Given the description of an element on the screen output the (x, y) to click on. 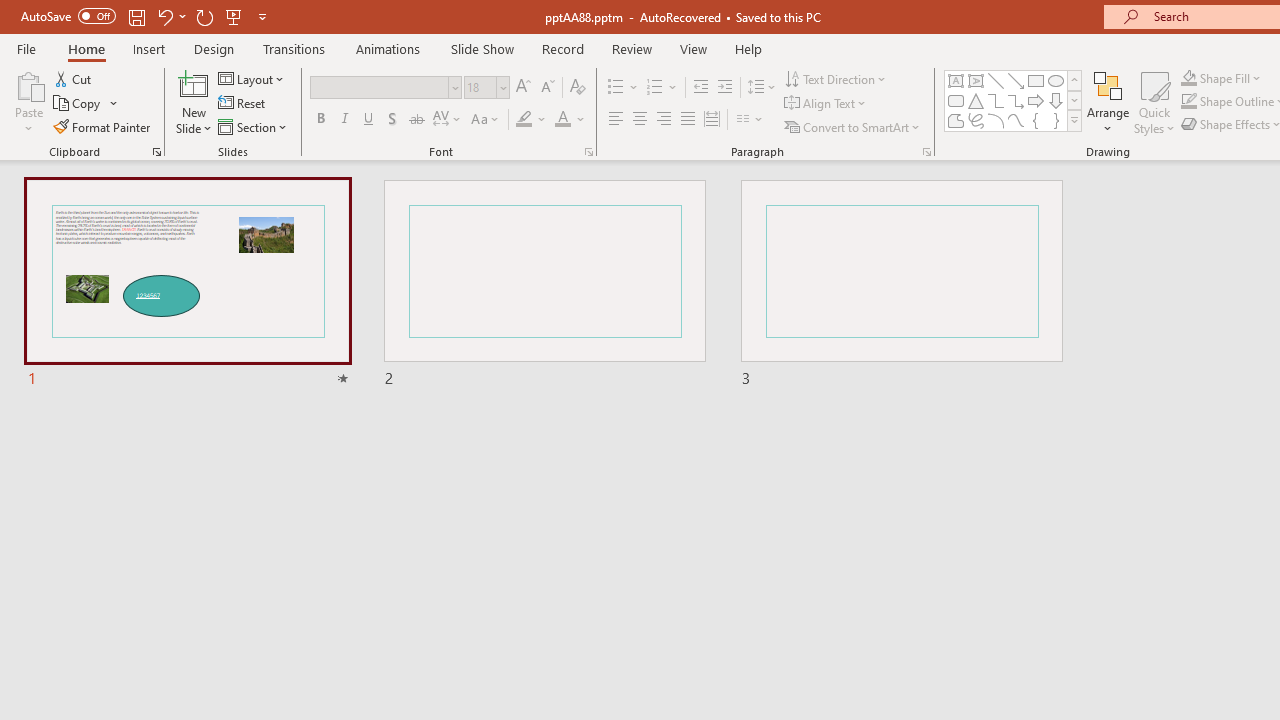
Office Clipboard... (156, 151)
AutomationID: ShapesInsertGallery (1014, 100)
Font... (588, 151)
Insert (149, 48)
Decrease Font Size (547, 87)
Freeform: Scribble (975, 120)
Save (136, 15)
Distributed (712, 119)
New Slide (193, 84)
Increase Indent (725, 87)
Numbering (654, 87)
Oval (1055, 80)
View (693, 48)
Font (385, 87)
